Given the description of an element on the screen output the (x, y) to click on. 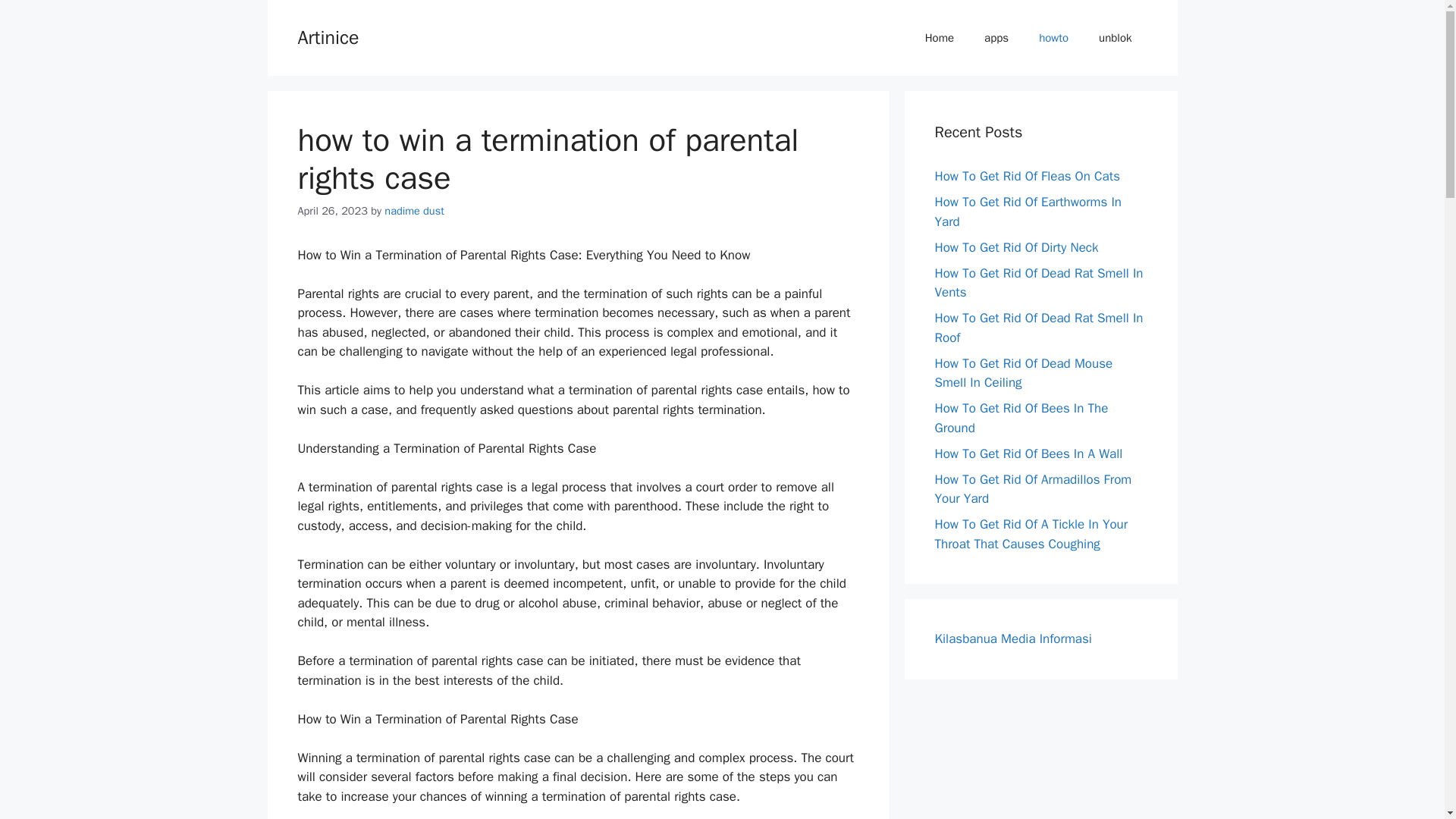
How To Get Rid Of Fleas On Cats (1026, 176)
How To Get Rid Of Bees In The Ground (1021, 417)
How To Get Rid Of Dead Rat Smell In Vents (1038, 283)
How To Get Rid Of Armadillos From Your Yard (1032, 488)
Kilasbanua Media Informasi (1012, 638)
Artinice (327, 37)
unblok (1115, 37)
How To Get Rid Of Earthworms In Yard (1027, 212)
How To Get Rid Of Dirty Neck (1015, 247)
apps (996, 37)
View all posts by nadime dust (414, 210)
Home (939, 37)
How To Get Rid Of Bees In A Wall (1028, 453)
How To Get Rid Of Dead Mouse Smell In Ceiling (1023, 372)
